Given the description of an element on the screen output the (x, y) to click on. 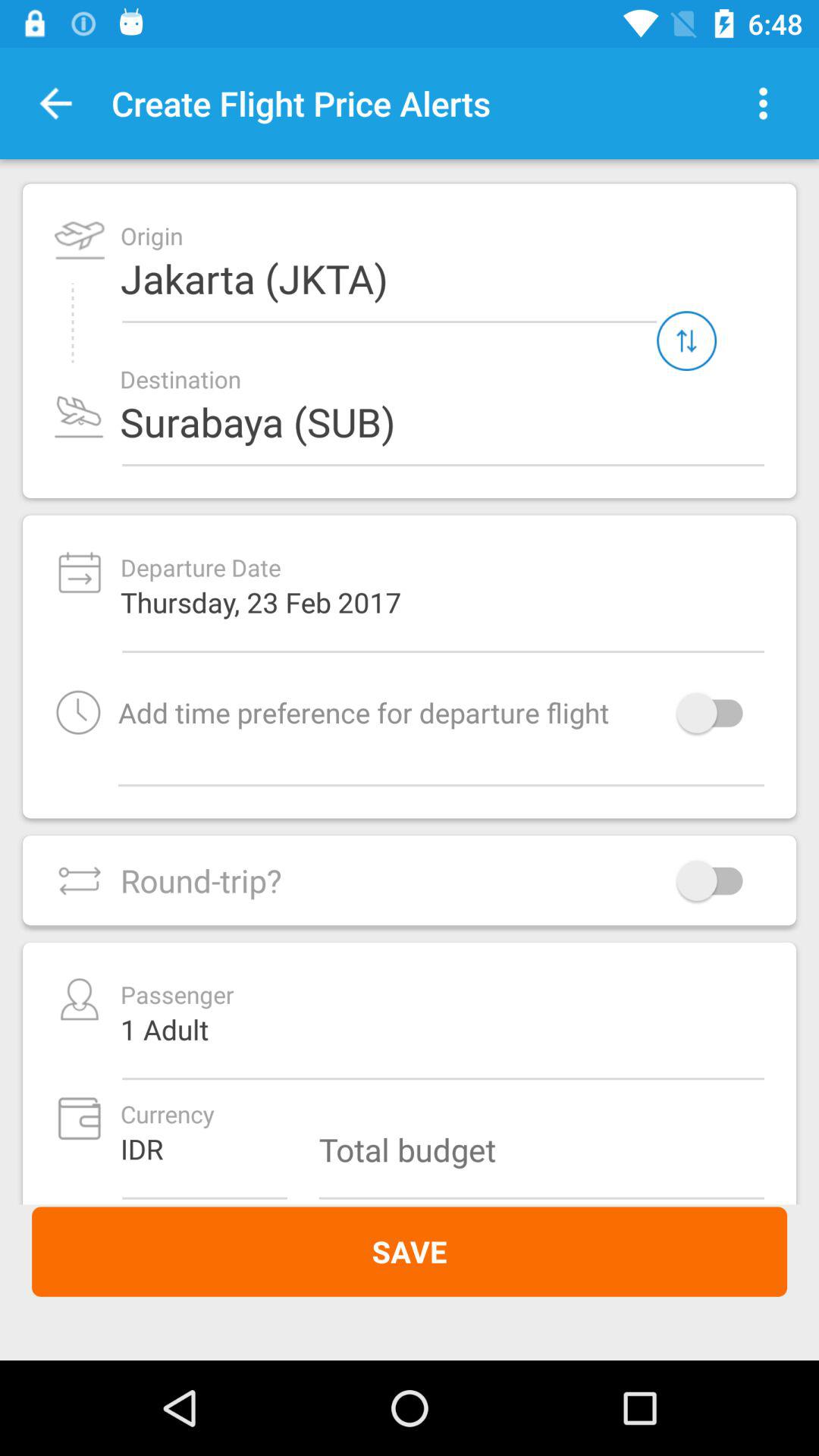
select the item next to the create flight price icon (55, 103)
